Given the description of an element on the screen output the (x, y) to click on. 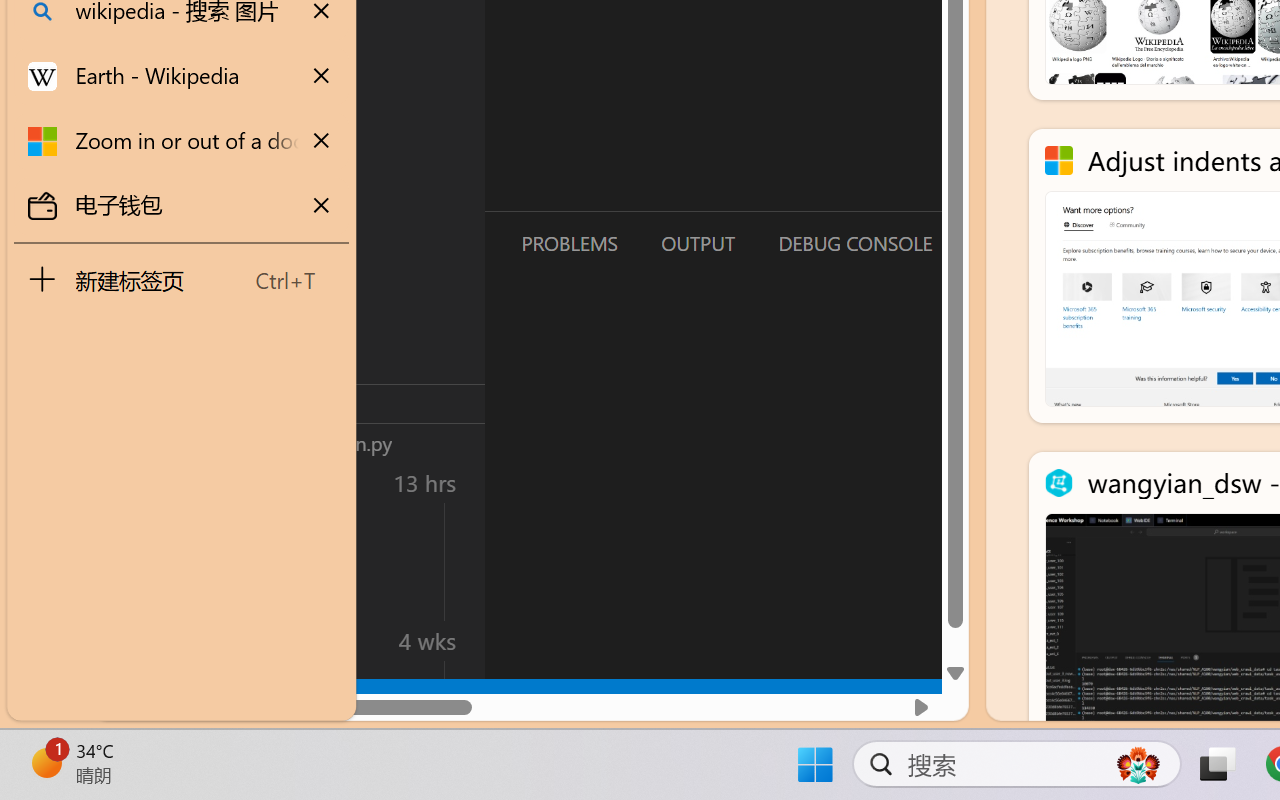
No Problems (212, 698)
Outline Section (331, 403)
Debug Console (Ctrl+Shift+Y) (854, 243)
